Given the description of an element on the screen output the (x, y) to click on. 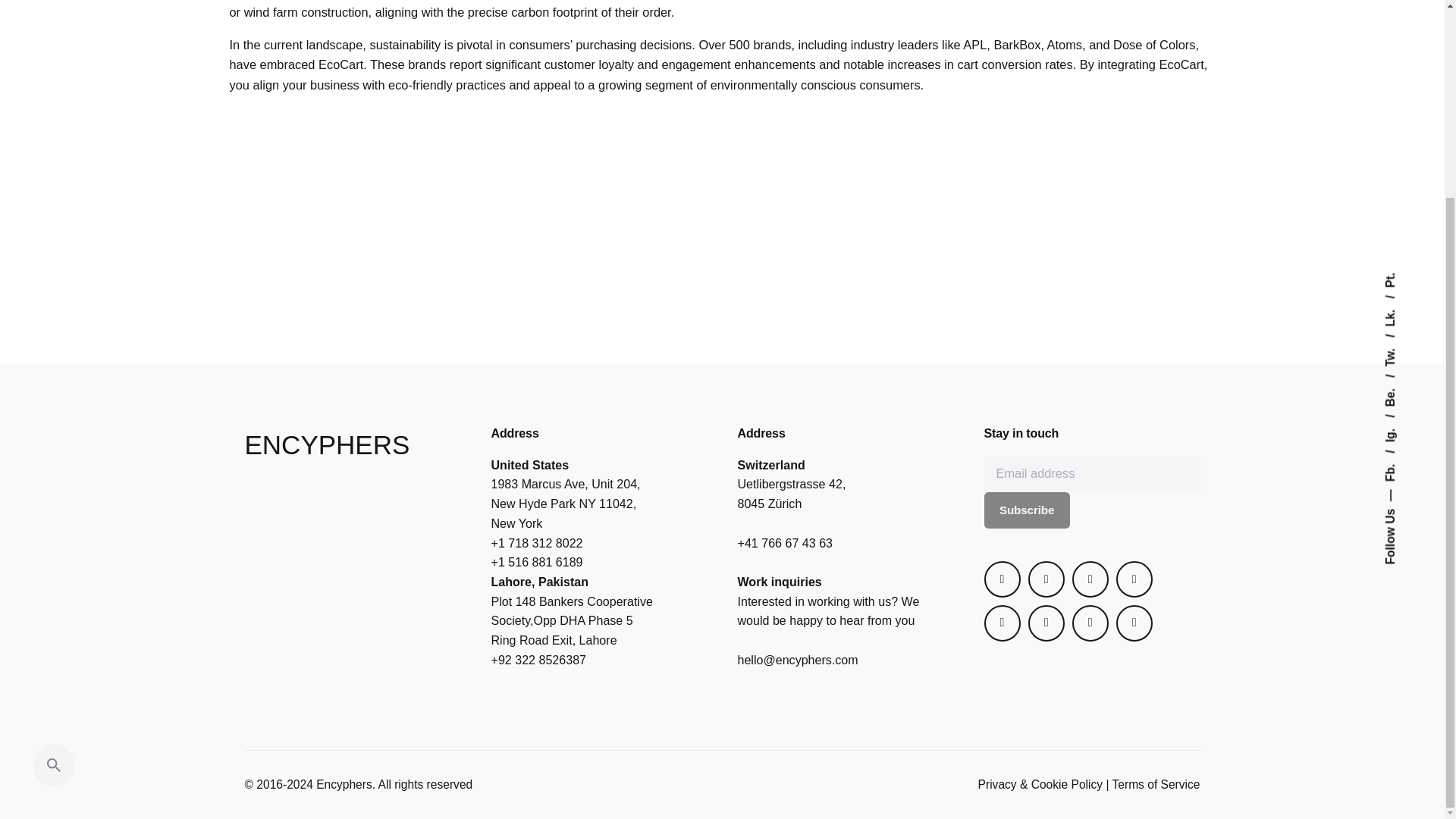
Fb. (1399, 205)
Tw. (1399, 89)
Pt. (1390, 28)
Ig. (1396, 169)
Lk. (1398, 50)
Subscribe (1027, 510)
Be. (1399, 129)
